Given the description of an element on the screen output the (x, y) to click on. 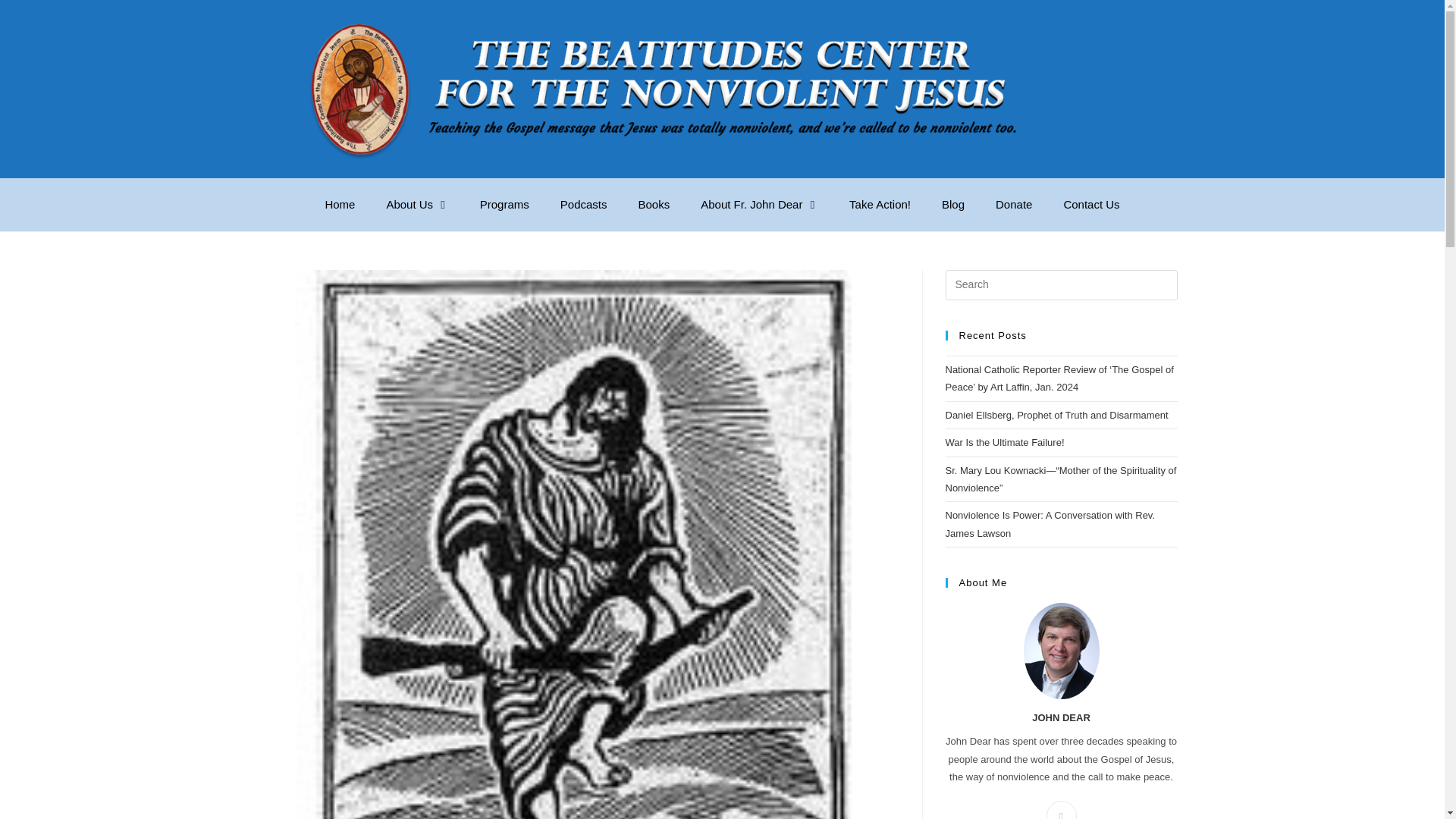
Take Action! (880, 204)
Contact Us (1091, 204)
About Us (417, 204)
Podcasts (583, 204)
Home (339, 204)
Donate (1013, 204)
About Fr. John Dear (759, 204)
Books (654, 204)
Programs (504, 204)
Blog (952, 204)
